Given the description of an element on the screen output the (x, y) to click on. 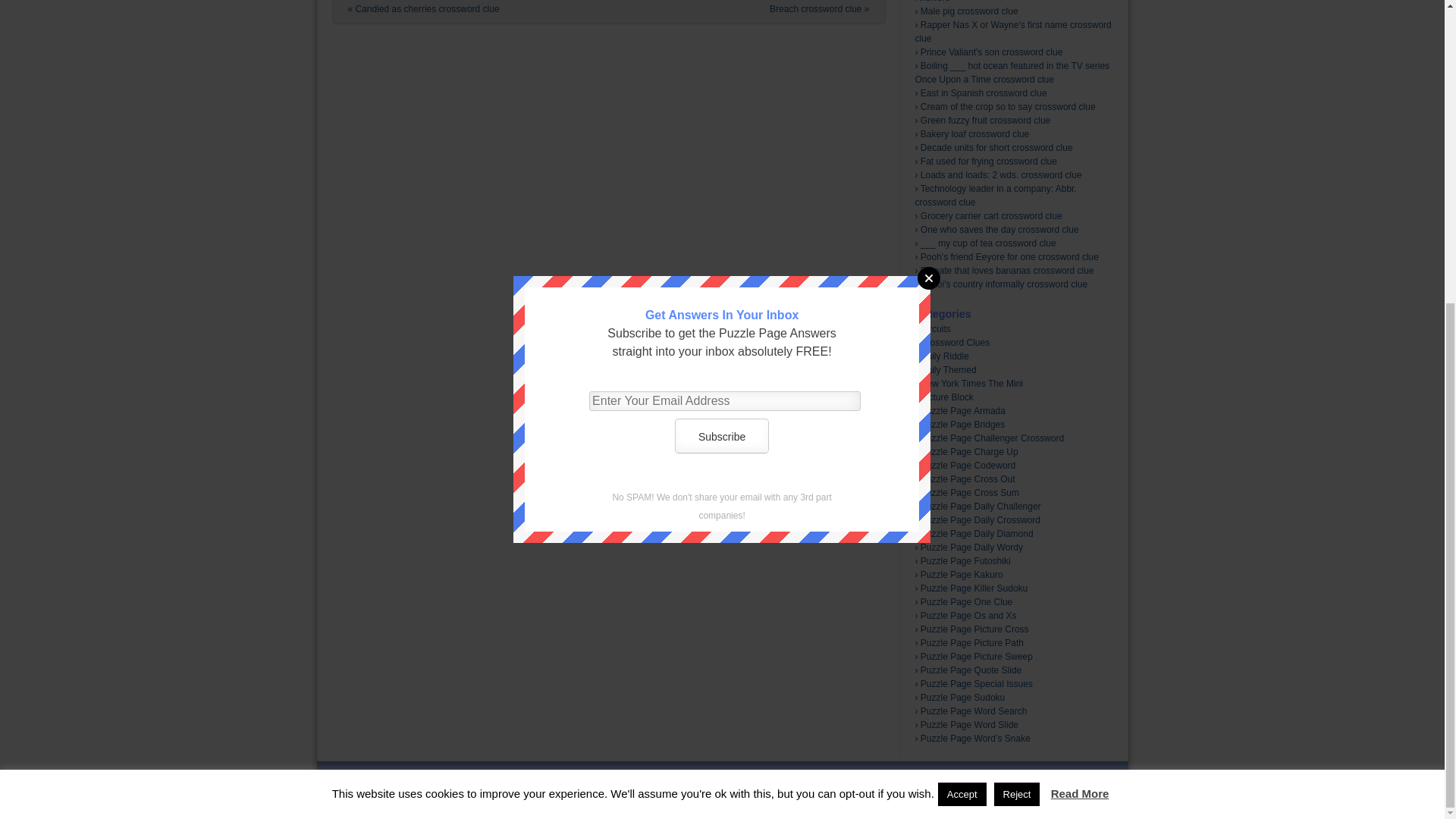
Loads and loads: 2 wds. crossword clue (1000, 174)
Fat used for frying crossword clue (988, 161)
One who saves the day crossword clue (999, 229)
A Semantic Personal Publishing Platform (696, 788)
Grocery carrier cart crossword clue (991, 215)
Green fuzzy fruit crossword clue (984, 120)
Decade units for short crossword clue (996, 147)
Rapper Nas X or Wayne's first name crossword clue (1012, 31)
Daily Themed Crossword July 17 2024 Answers (994, 1)
East in Spanish crossword clue (983, 92)
Male pig crossword clue (968, 10)
Bakery loaf crossword clue (974, 133)
Technology leader in a company: Abbr. crossword clue (994, 195)
Cream of the crop so to say crossword clue (1008, 106)
Prince Valiant's son crossword clue (991, 51)
